Given the description of an element on the screen output the (x, y) to click on. 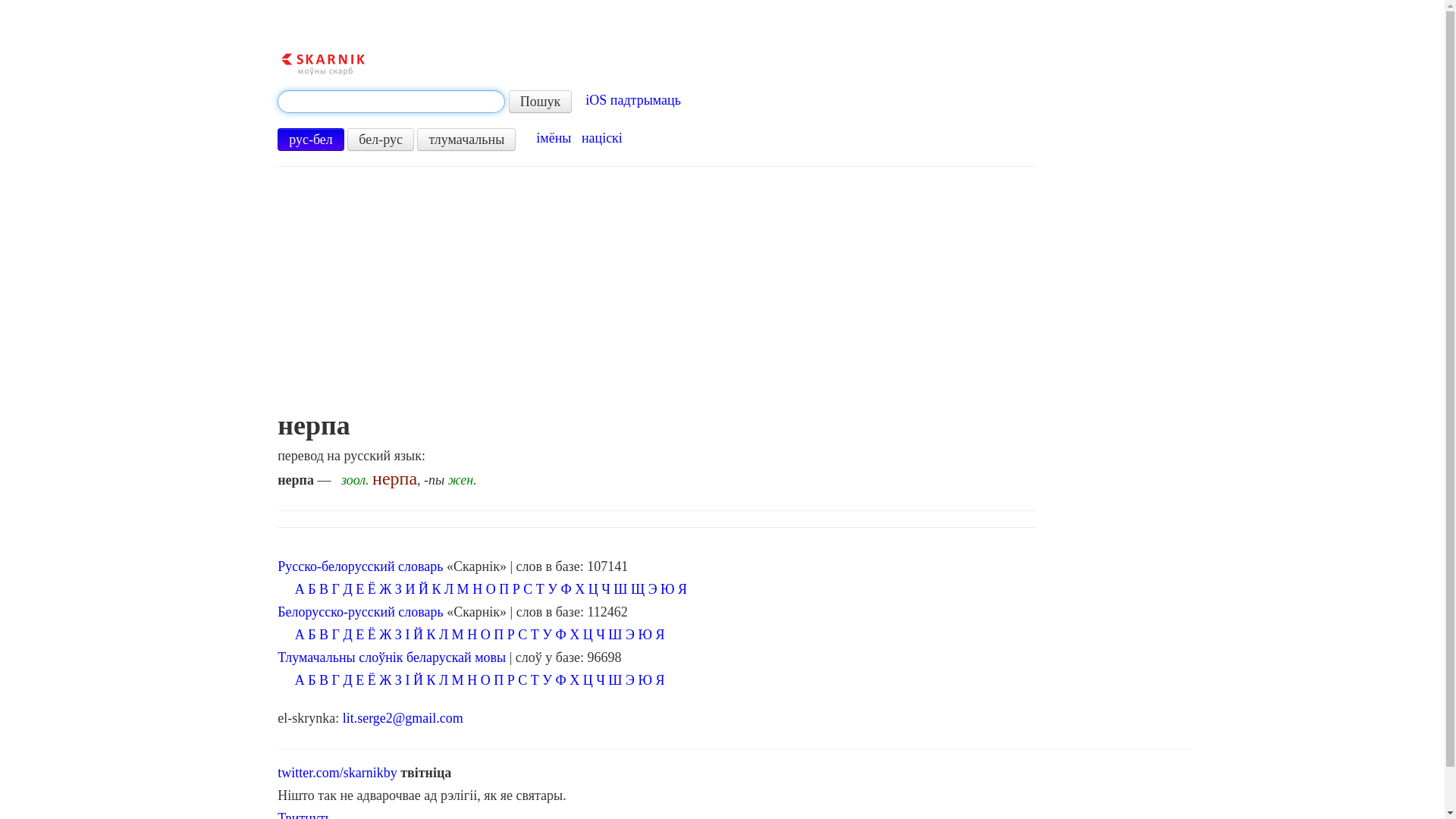
twitter.com/skarnikby Element type: text (336, 772)
lit.serge2@gmail.com Element type: text (402, 717)
iOS Element type: text (595, 99)
Advertisement Element type: hover (659, 296)
